Given the description of an element on the screen output the (x, y) to click on. 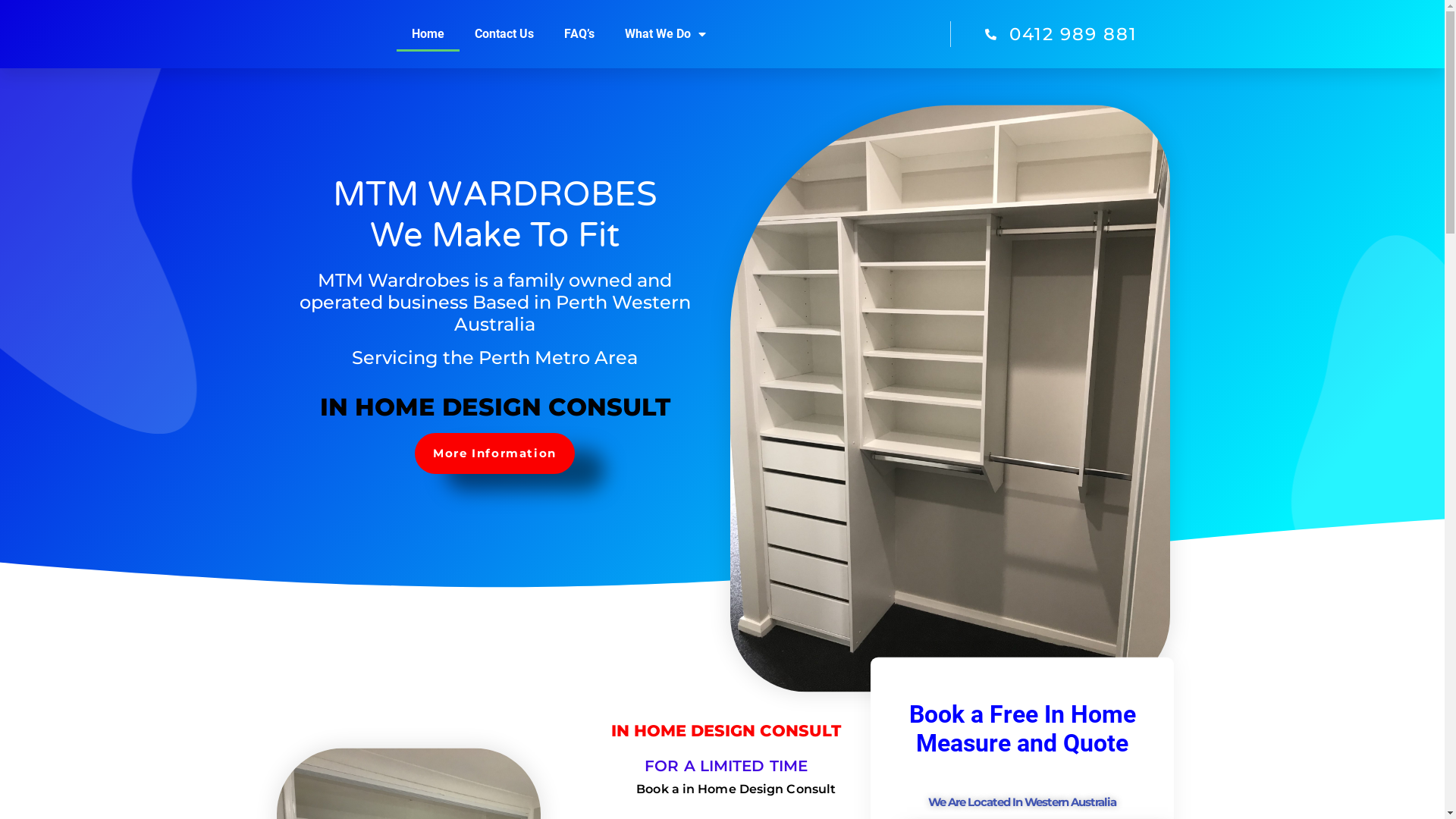
Contact Us Element type: text (504, 33)
What We Do Element type: text (665, 33)
More Information Element type: text (494, 453)
Home Element type: text (427, 33)
